Given the description of an element on the screen output the (x, y) to click on. 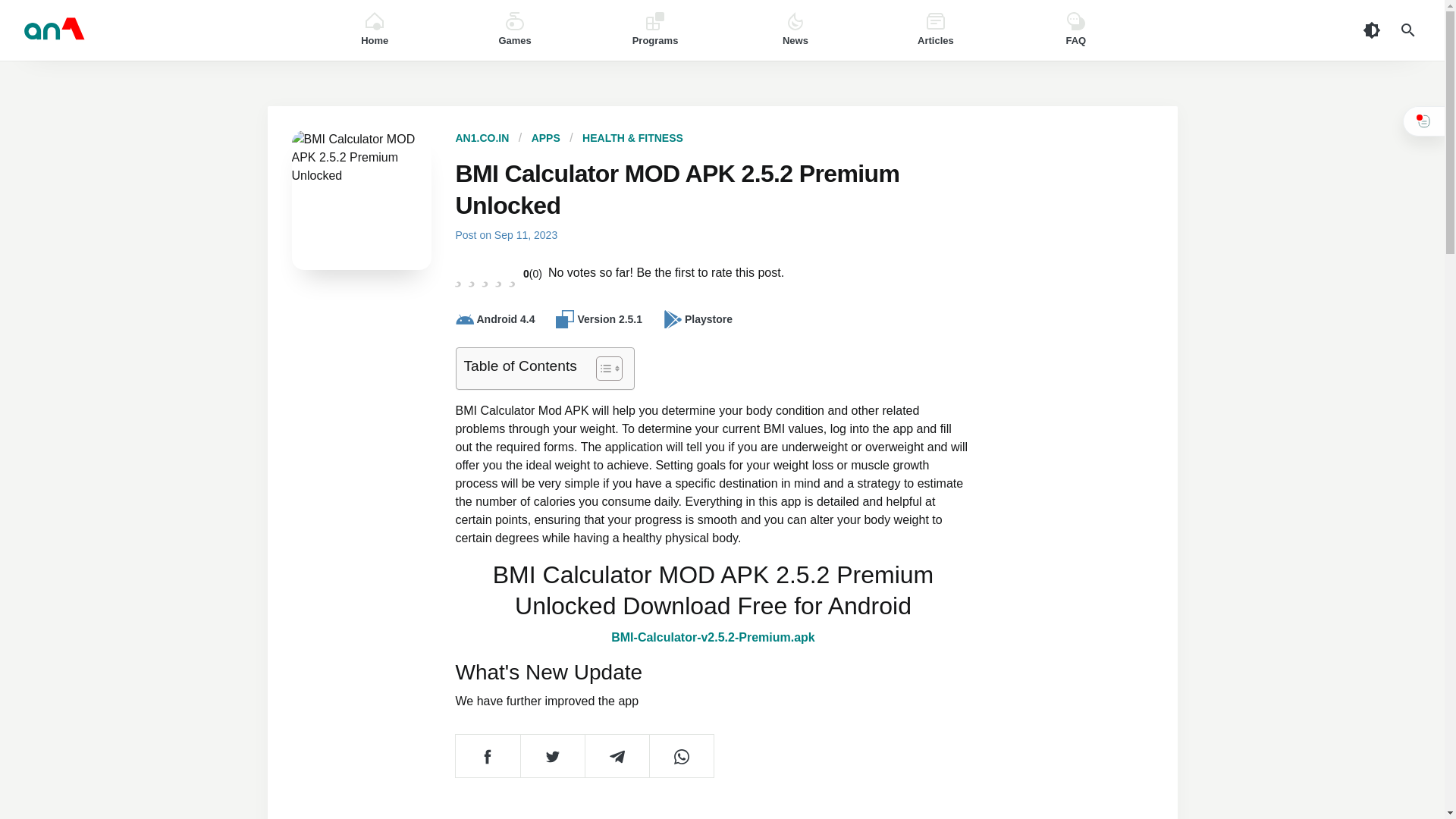
Programs (655, 30)
Home (374, 30)
Share on Facebook (486, 755)
Articles (935, 30)
Share on Twitter (552, 755)
Games (515, 30)
Share on WhatsApp (681, 755)
FAQ (1075, 30)
News (795, 30)
Share on Telegram (615, 755)
